Given the description of an element on the screen output the (x, y) to click on. 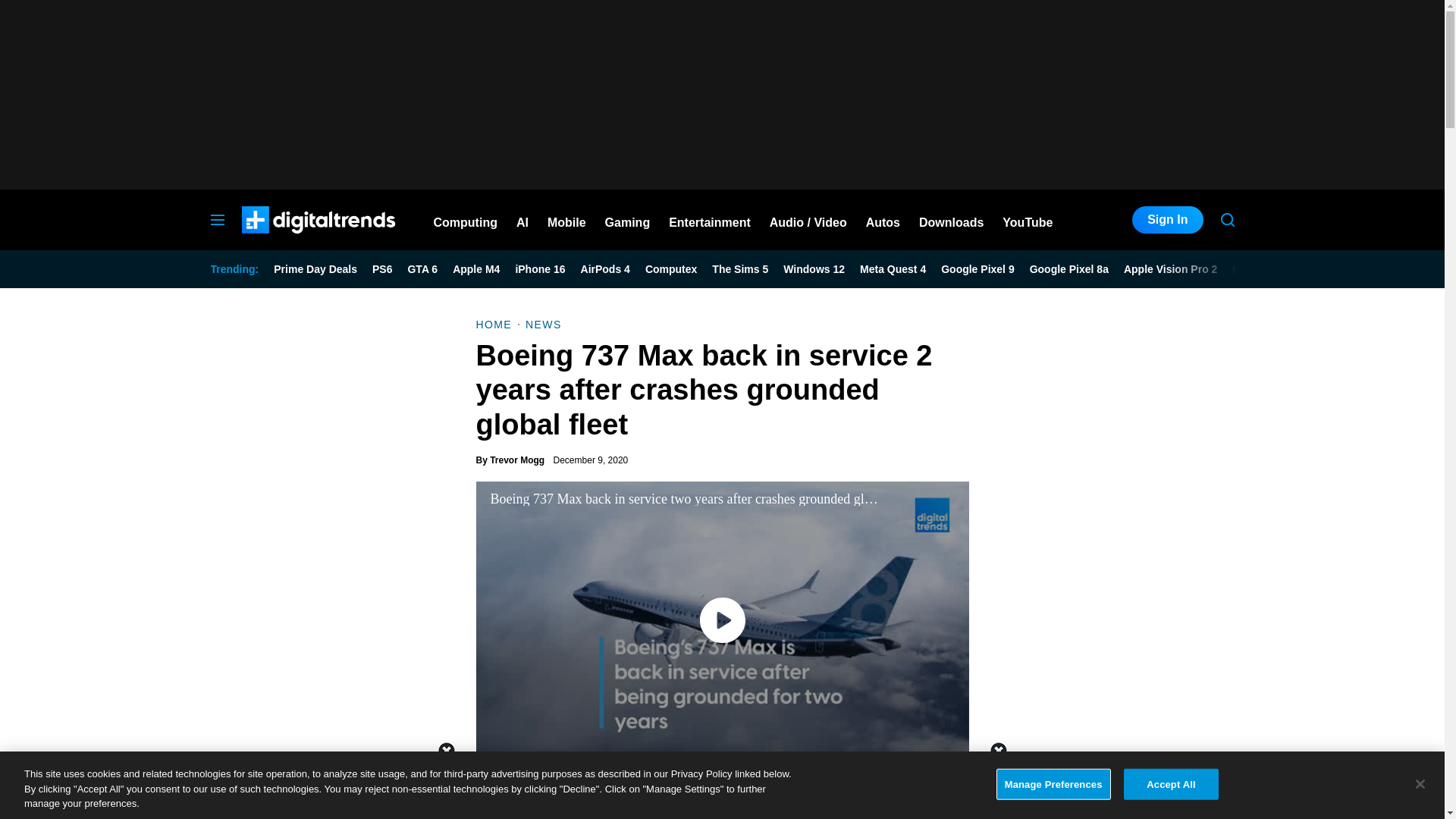
Sign In (1167, 219)
3rd party ad content (721, 785)
YouTube (1027, 219)
Downloads (951, 219)
Entertainment (709, 219)
Mobile (566, 219)
Gaming (627, 219)
AI (522, 219)
Computing (465, 219)
Autos (882, 219)
3rd party ad content (1120, 708)
